Given the description of an element on the screen output the (x, y) to click on. 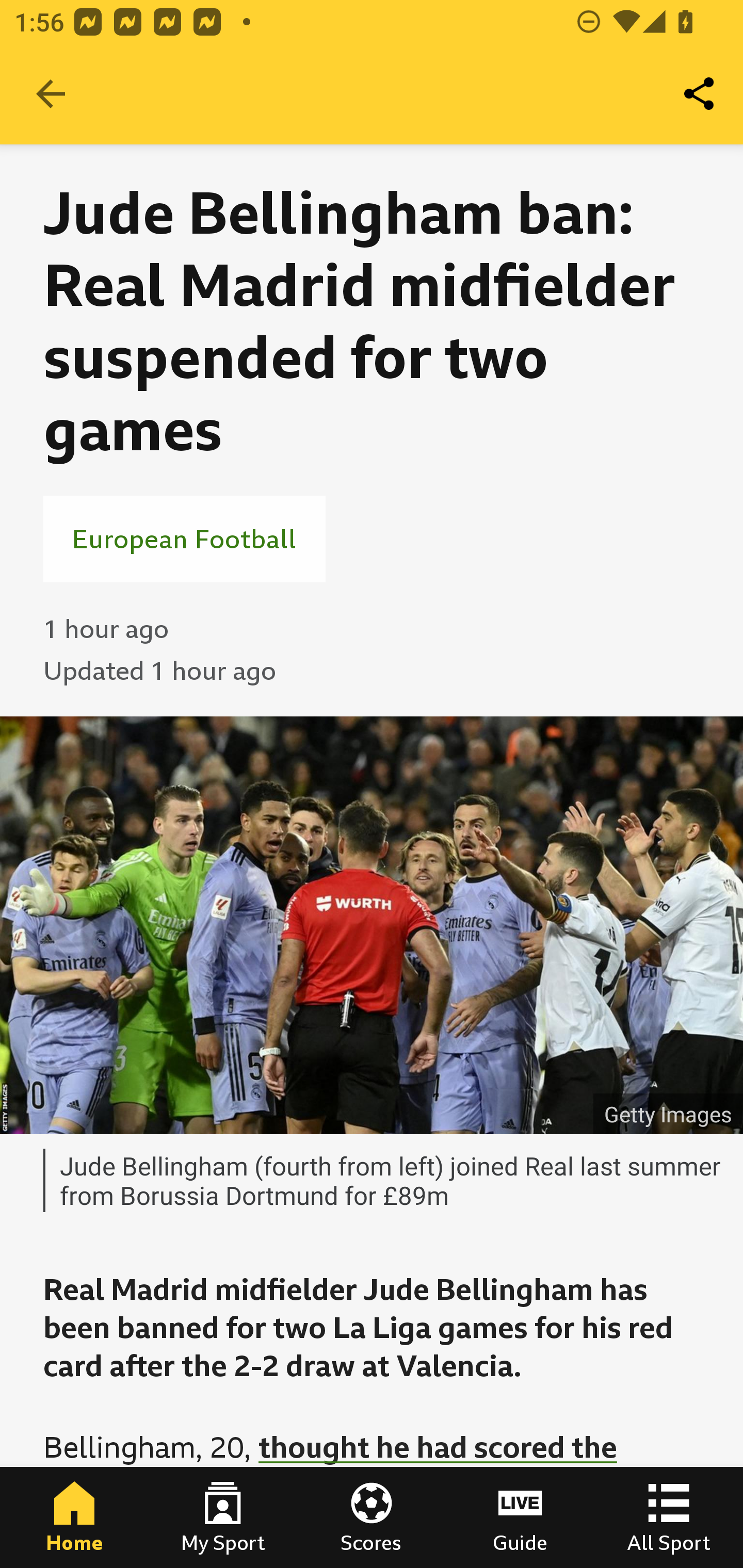
Navigate up (50, 93)
Share (699, 93)
European Football (184, 538)
My Sport (222, 1517)
Scores (371, 1517)
Guide (519, 1517)
All Sport (668, 1517)
